Given the description of an element on the screen output the (x, y) to click on. 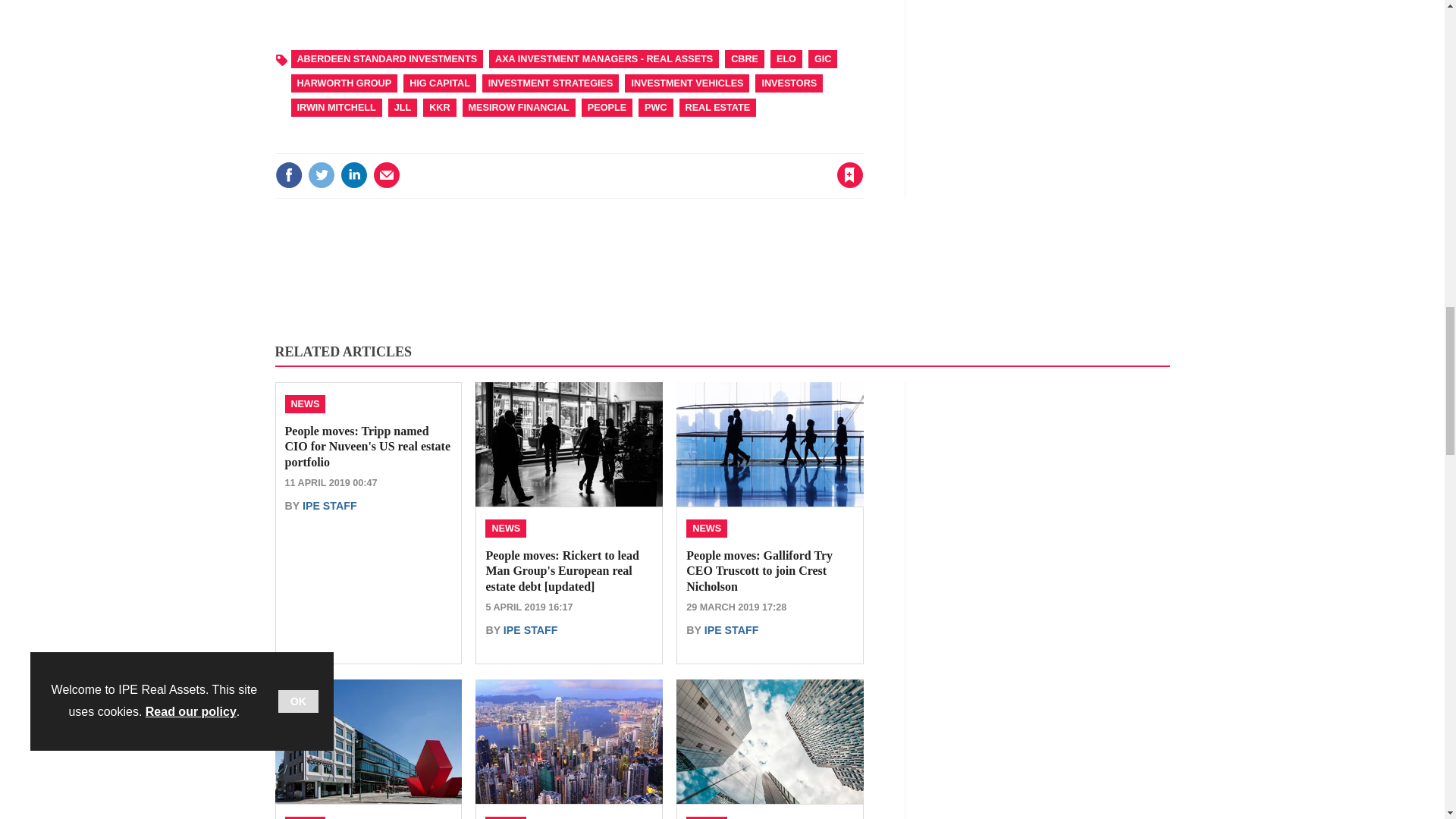
Share this on Linked in (352, 175)
Share this on Twitter (320, 175)
Email this article (386, 175)
Share this on Facebook (288, 175)
